Given the description of an element on the screen output the (x, y) to click on. 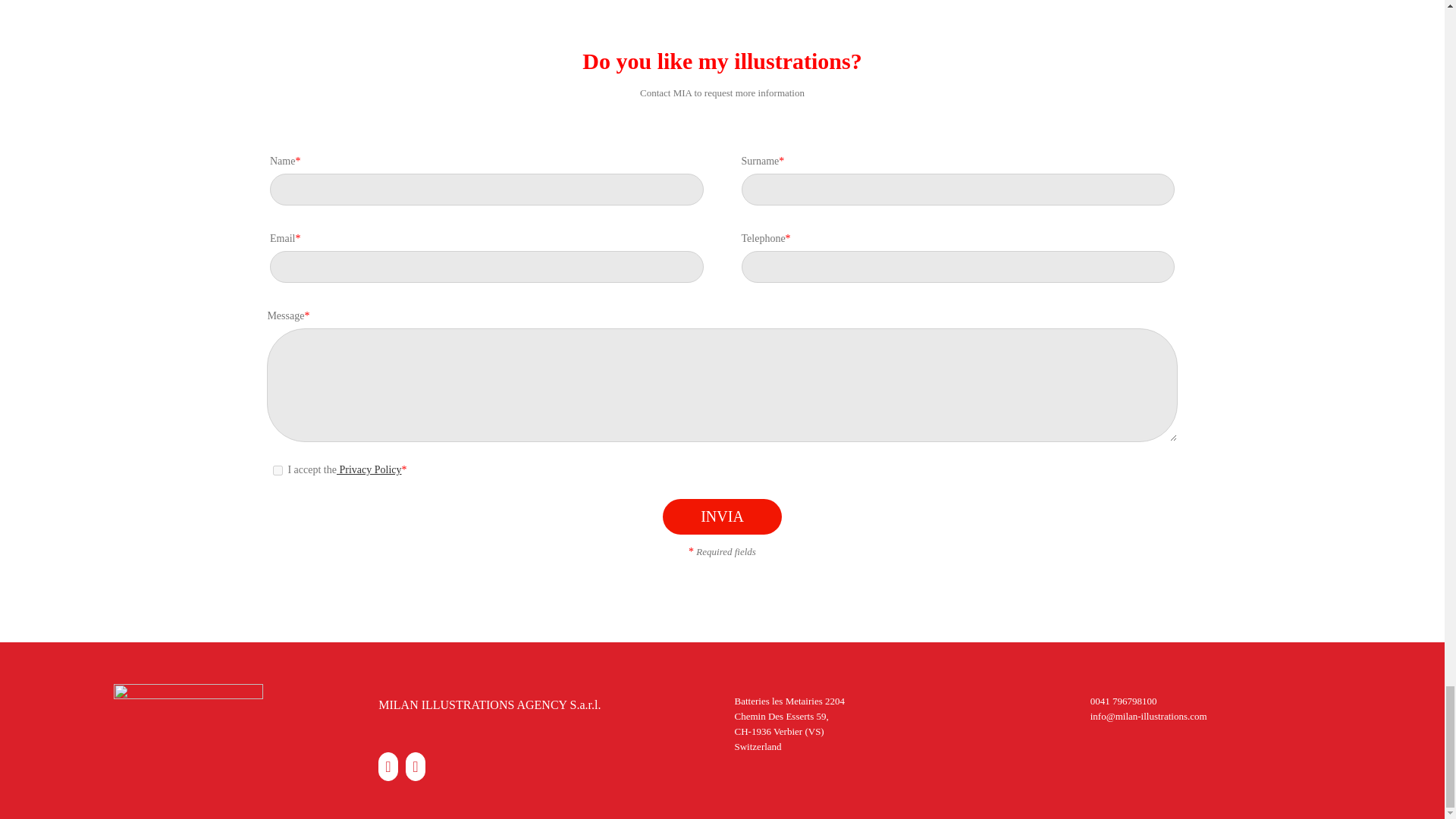
I accept the (277, 470)
Invia (721, 516)
Invia (721, 516)
0041 796798100 (1123, 700)
Privacy Policy (368, 469)
